Given the description of an element on the screen output the (x, y) to click on. 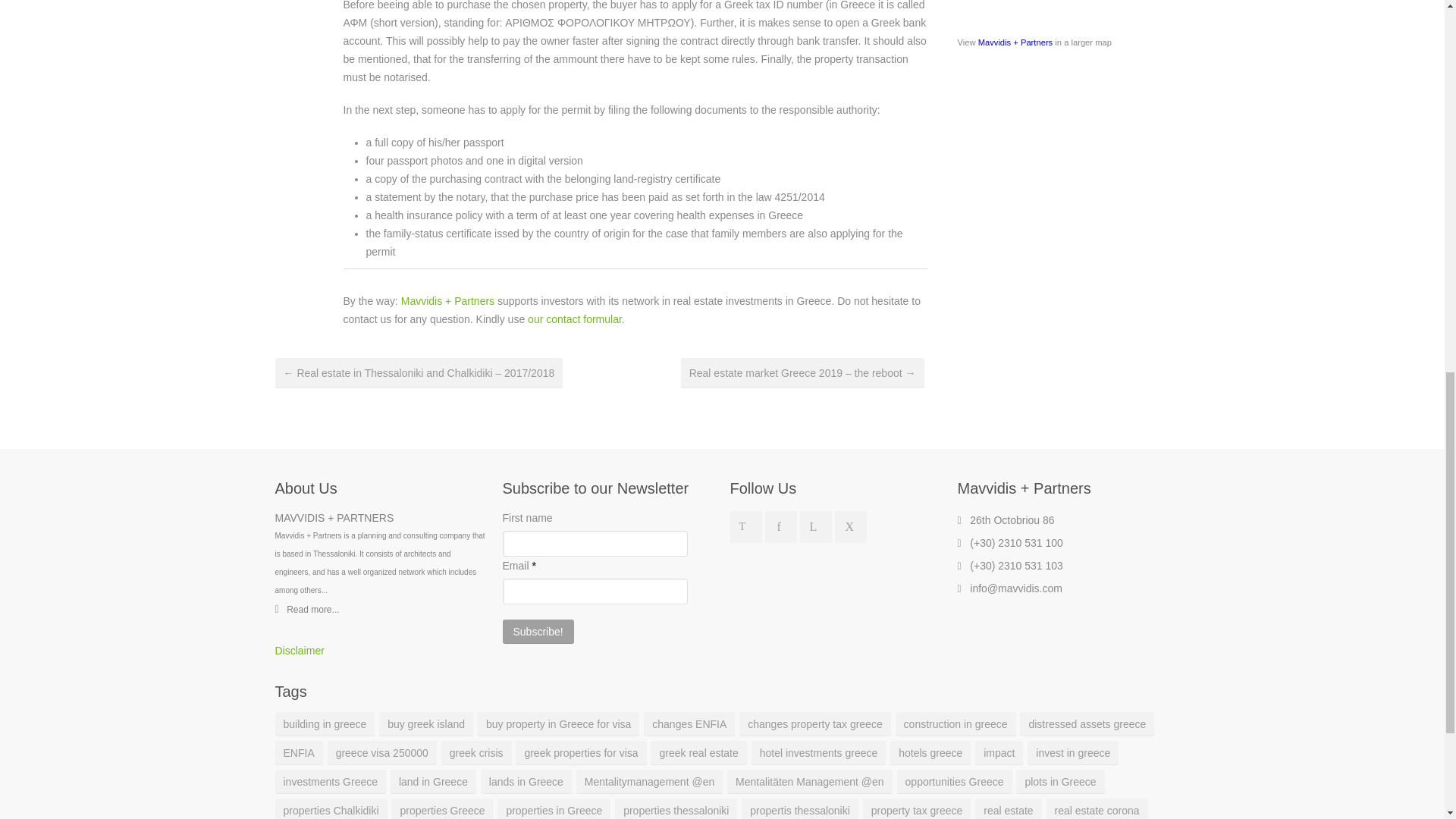
our contact formular (574, 318)
Subscribe! (537, 631)
First name (594, 543)
Email (594, 591)
